Given the description of an element on the screen output the (x, y) to click on. 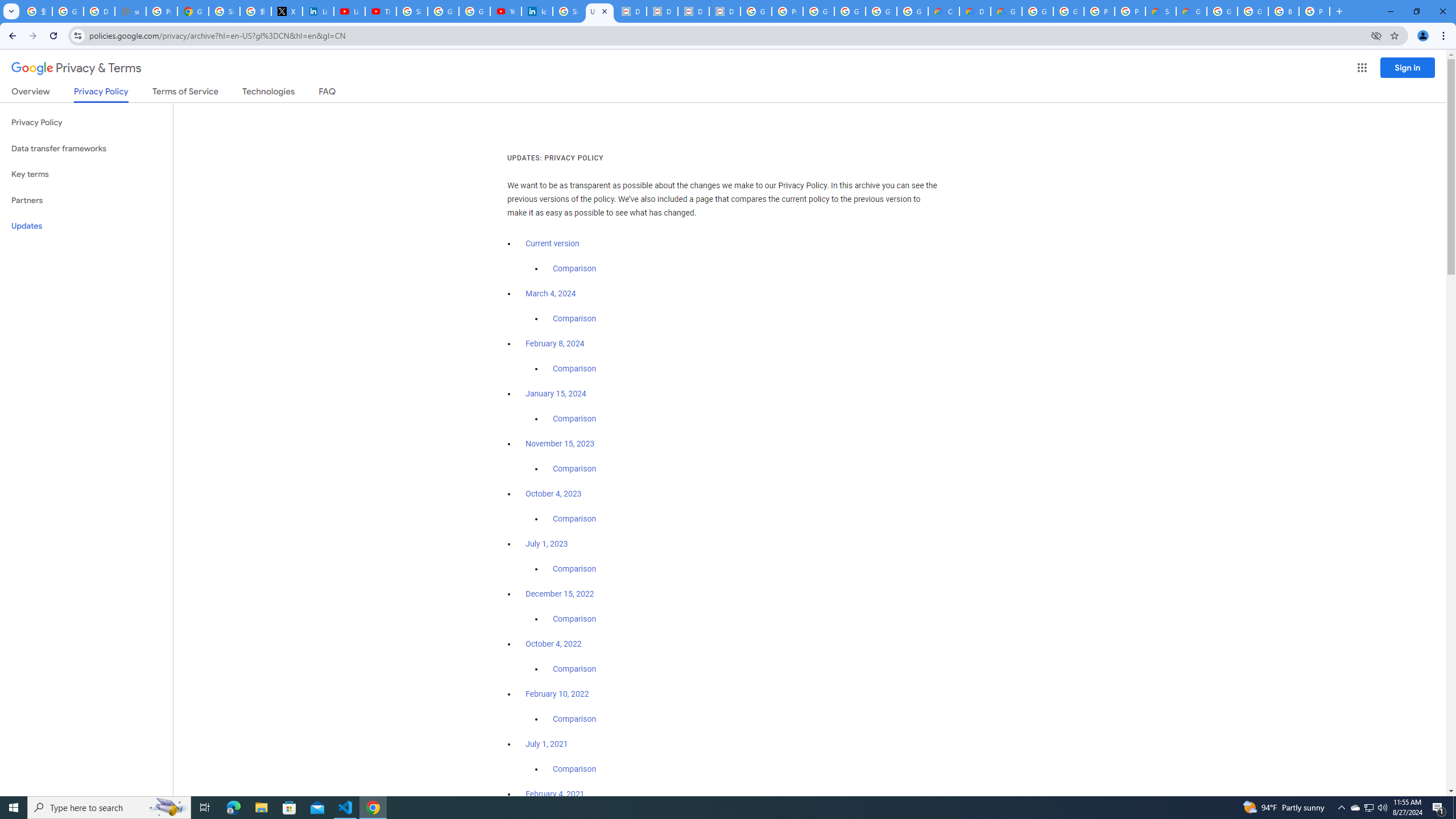
Data Privacy Framework (724, 11)
FAQ (327, 93)
X (286, 11)
Google Cloud Platform (1222, 11)
support.google.com - Network error (130, 11)
Google Cloud Platform (1068, 11)
